Given the description of an element on the screen output the (x, y) to click on. 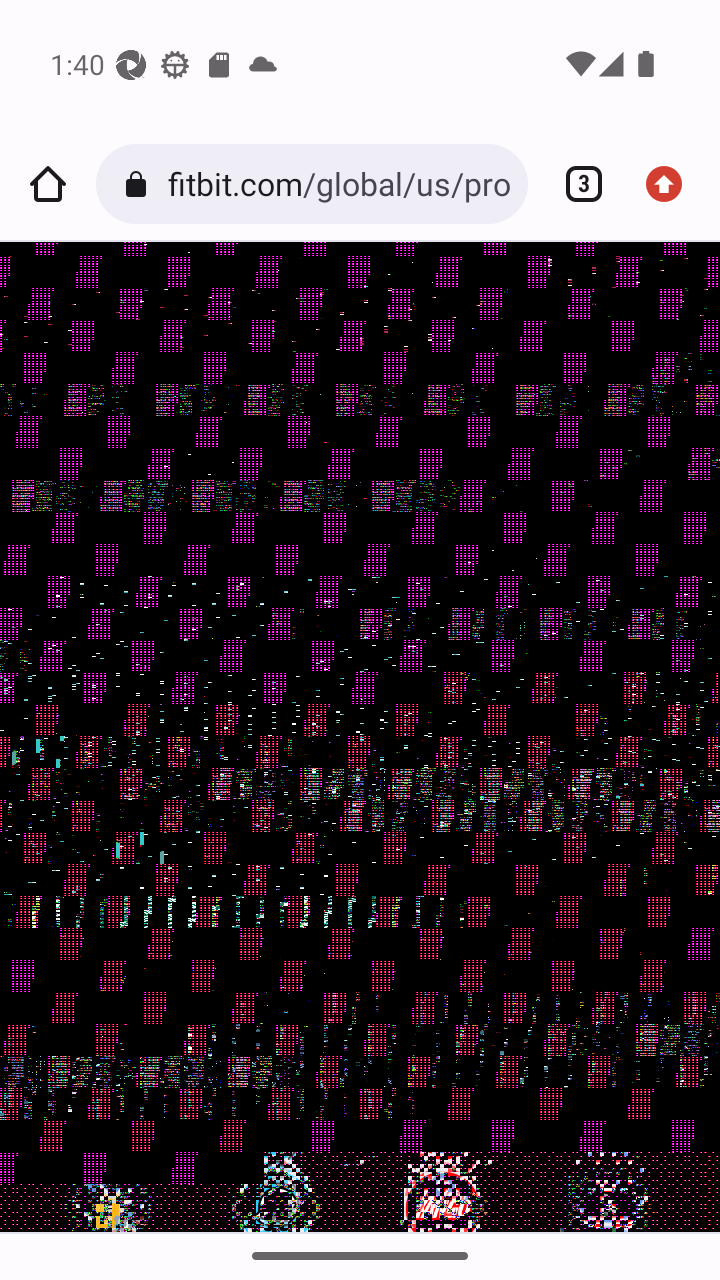
Home (47, 184)
Connection is secure (139, 184)
Switch or close tabs (575, 184)
Update available. More options (672, 184)
fitbit.com/global/us/products/trackers/charge6 (339, 184)
